Given the description of an element on the screen output the (x, y) to click on. 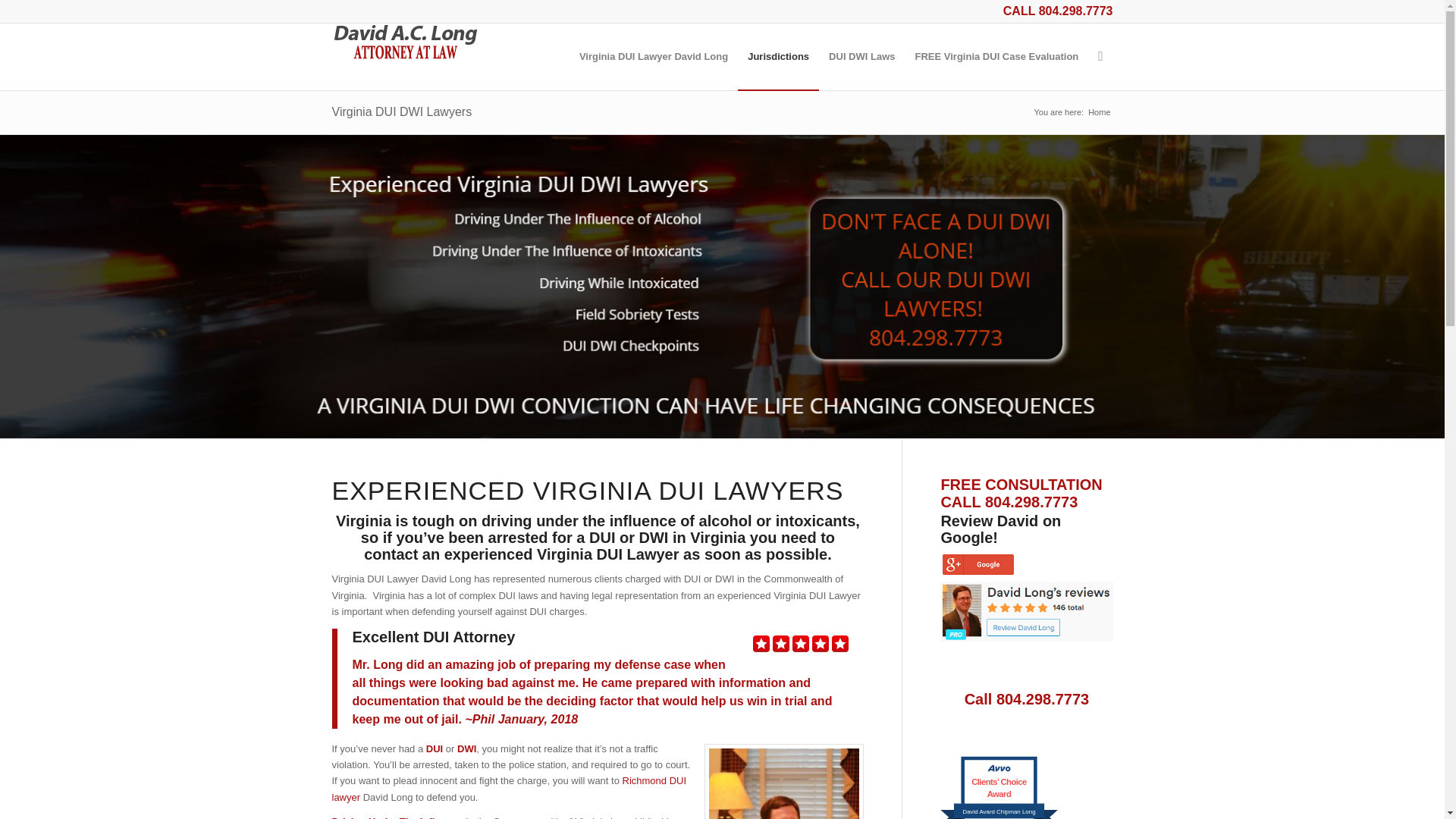
FREE Virginia DUI Case Evaluation (997, 56)
Permanent Link: Virginia DUI DWI Lawyers (401, 111)
DUI DWI Lawyers In Virginia (778, 56)
CALL 804.298.7773 (1058, 11)
Virginia DUI DWI Laws (861, 56)
Richmond DUI lawyer (509, 788)
Virginia DUI Lawyer David Long (653, 56)
Richmond (509, 788)
DUI DWI Laws (861, 56)
Virginia DUI DWI Lawyers (401, 111)
Jurisdictions (778, 56)
